Given the description of an element on the screen output the (x, y) to click on. 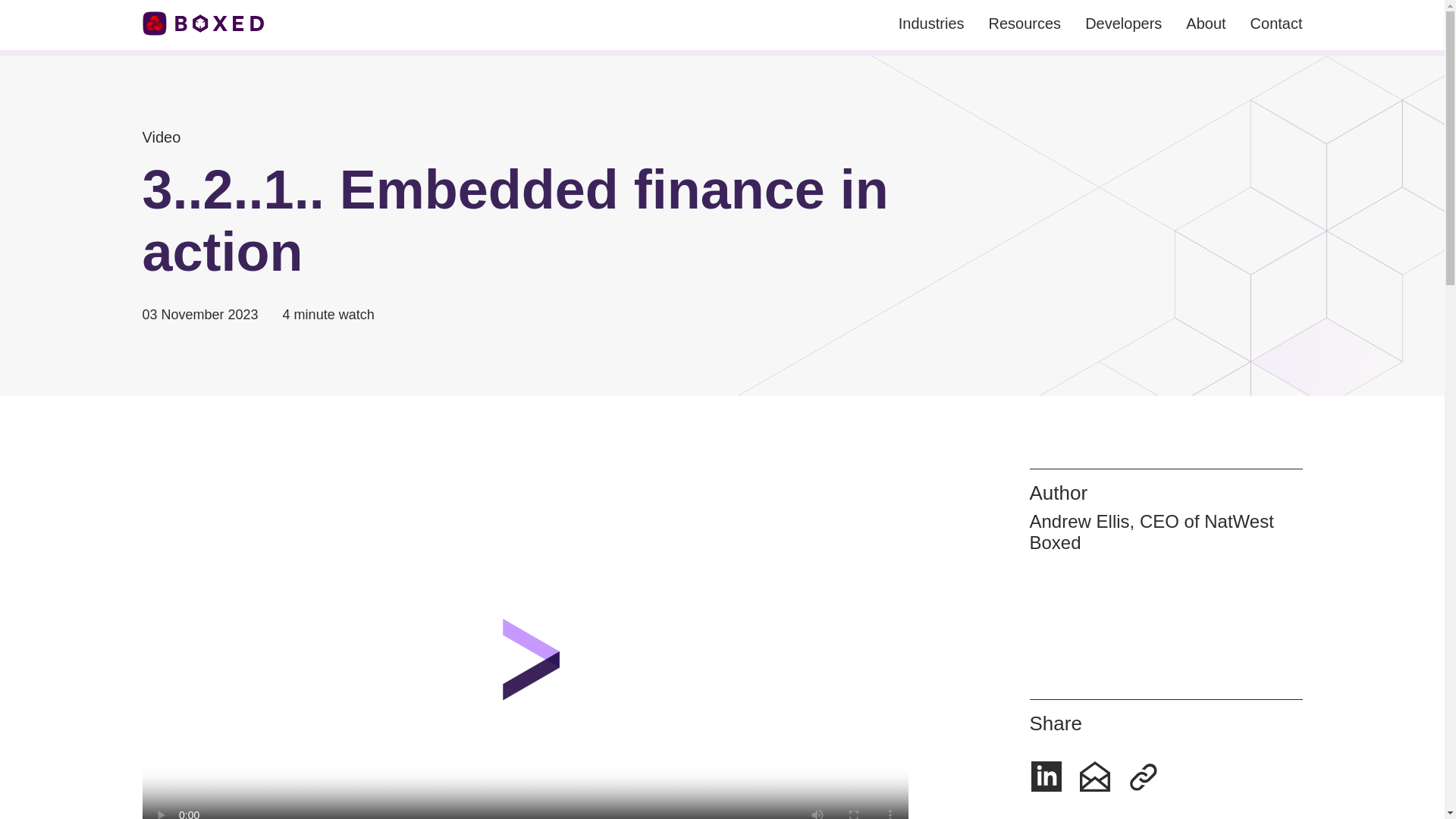
Resources (1024, 24)
Share 3..2..1.. Embedded finance in action (1143, 776)
Contact (1276, 24)
Developers (1122, 24)
